Given the description of an element on the screen output the (x, y) to click on. 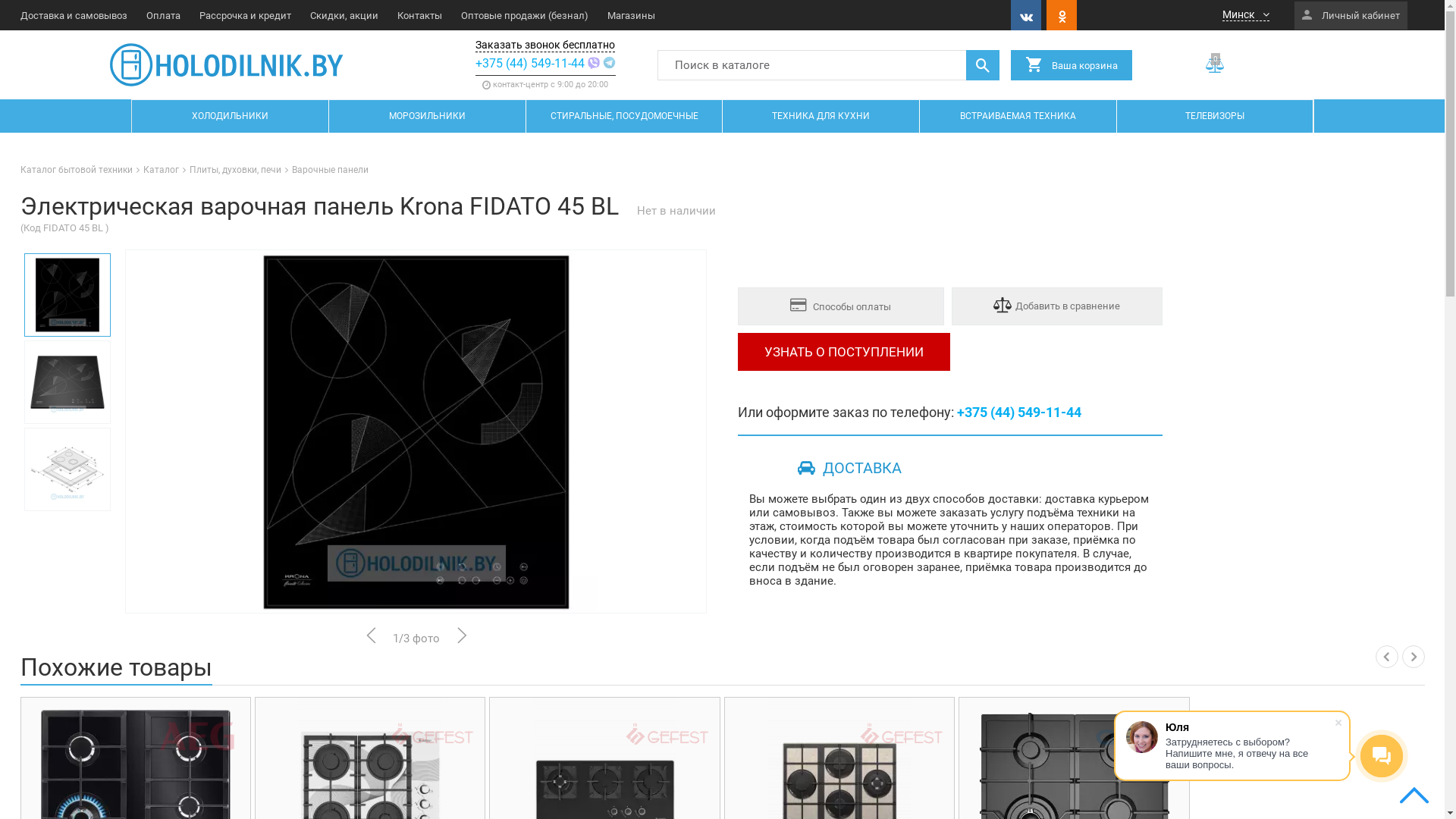
+375 (44) 549-11-44 Element type: text (529, 63)
Viber Element type: hover (594, 63)
AEG Element type: hover (197, 735)
Gefest Element type: hover (666, 735)
Gefest Element type: hover (901, 735)
AKPO Element type: hover (1136, 735)
+375 (44) 549-11-44 Element type: text (1019, 412)
Gefest Element type: hover (431, 735)
0 Element type: text (1215, 64)
Telegram Element type: hover (608, 63)
